Given the description of an element on the screen output the (x, y) to click on. 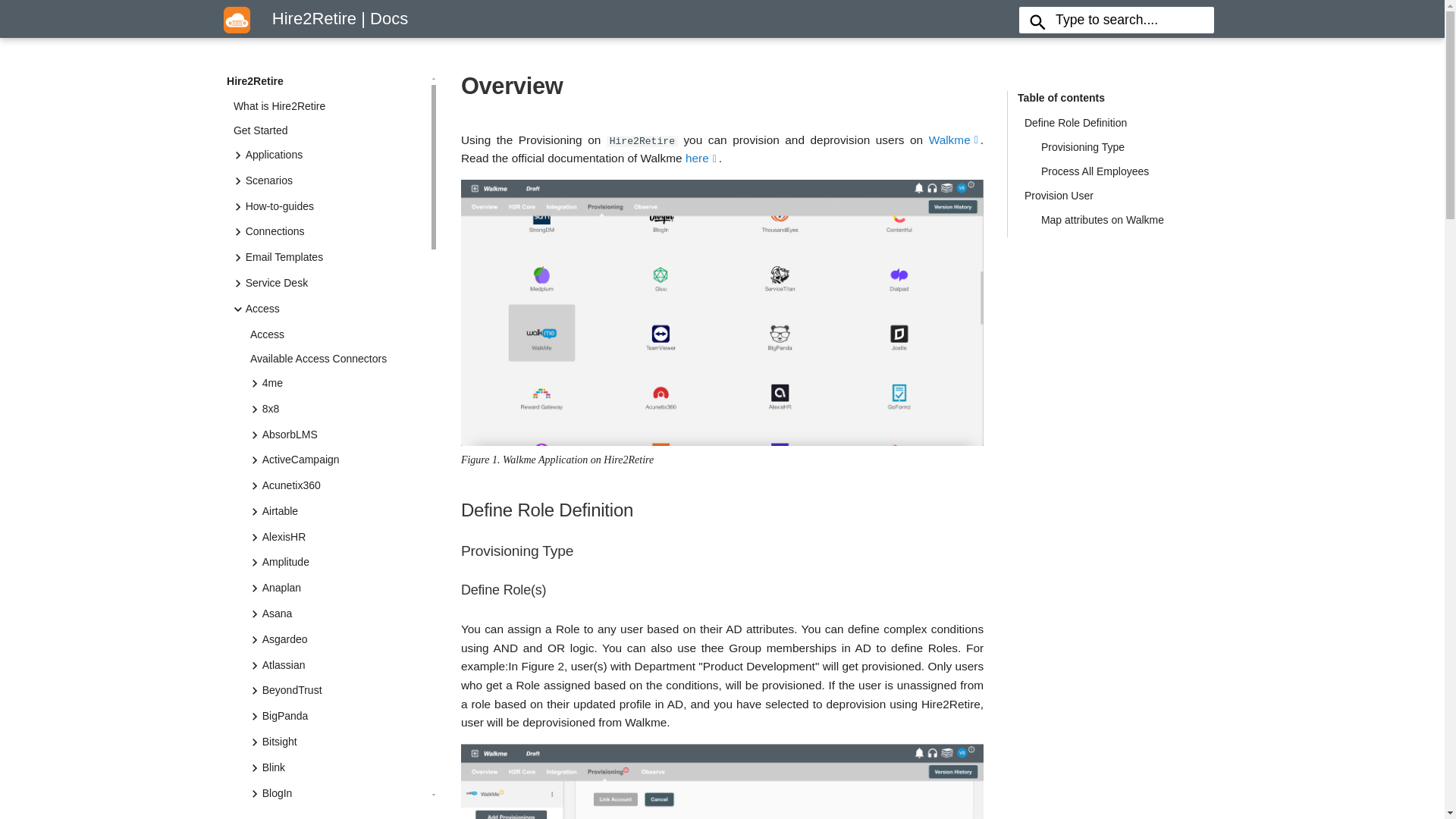
Get Started (326, 130)
What is Hire2Retire (326, 106)
What is Hire2Retire (326, 122)
Get Started (326, 146)
Hire2Retire (237, 19)
